Given the description of an element on the screen output the (x, y) to click on. 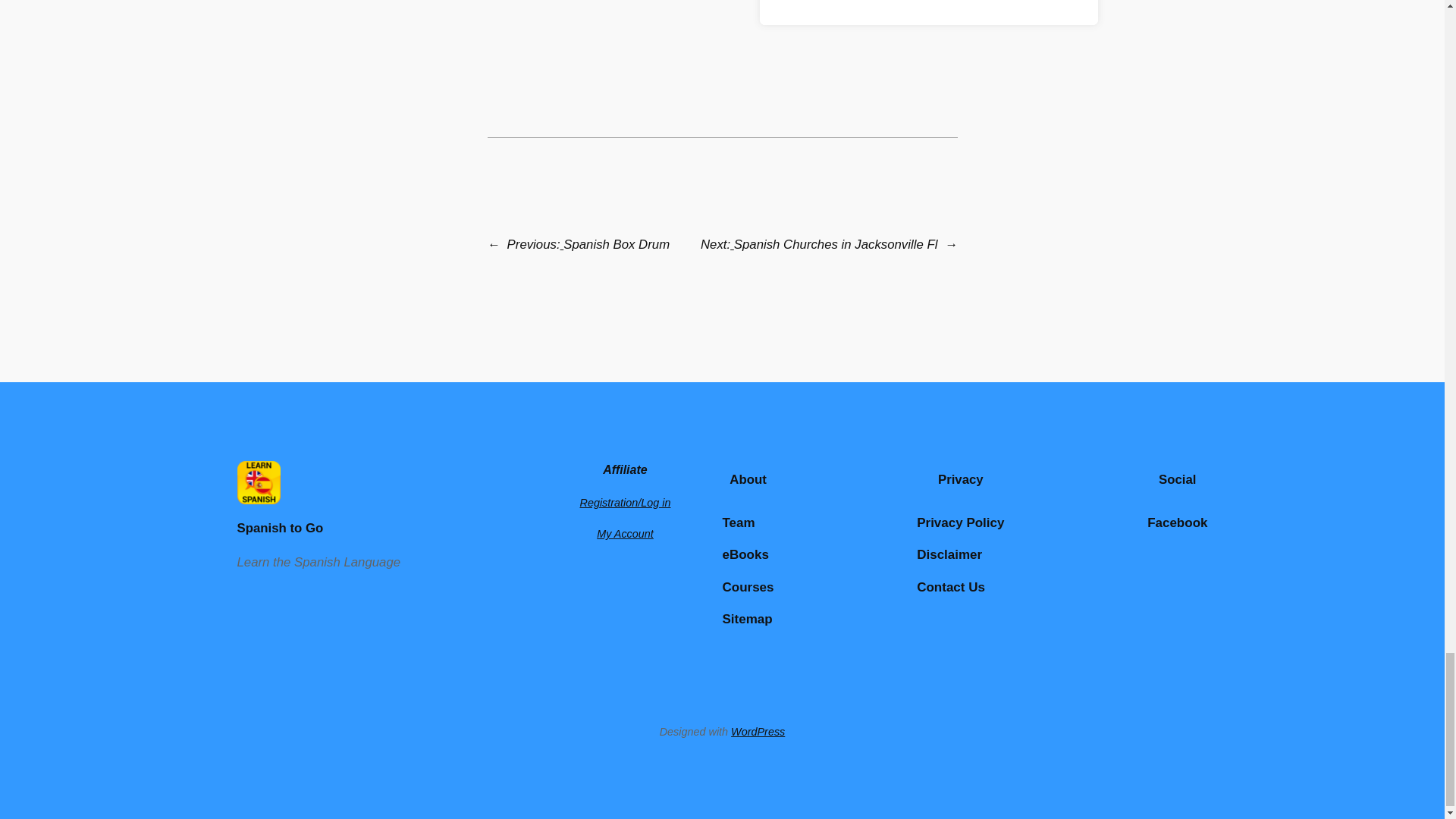
Next: Spanish Churches in Jacksonville Fl (818, 244)
Spanish to Go (279, 527)
Previous: Spanish Box Drum (587, 244)
